Given the description of an element on the screen output the (x, y) to click on. 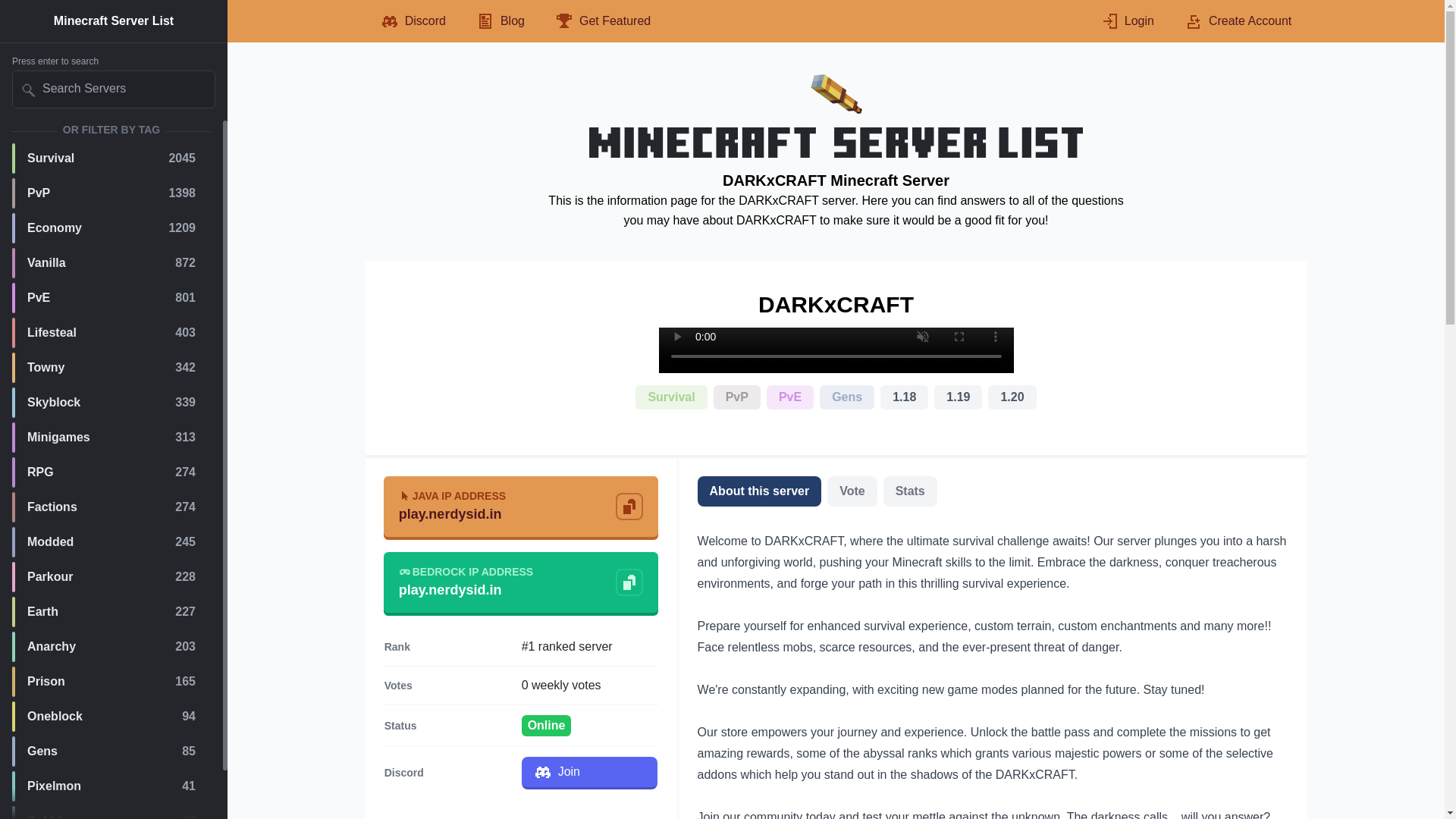
Get Featured (602, 21)
1.19 (111, 612)
Survival (111, 332)
Create Account (111, 158)
Minecraft Server List (957, 396)
Blog (111, 681)
Gens (670, 396)
1.18 (1237, 21)
